Given the description of an element on the screen output the (x, y) to click on. 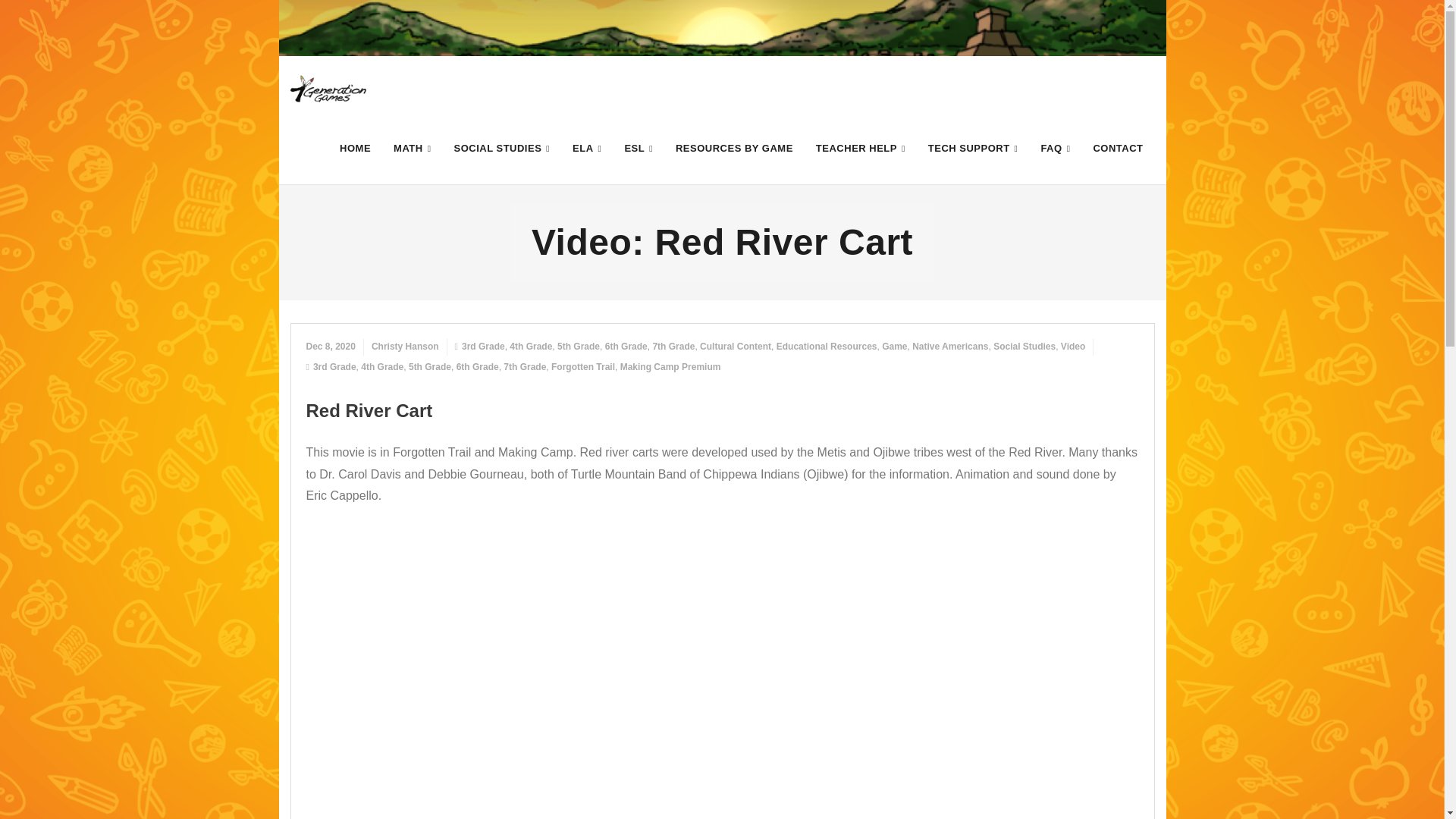
TEACHER HELP (861, 148)
View all posts by Christy Hanson (405, 346)
SOCIAL STUDIES (501, 148)
Video: Red River Cart (330, 346)
RESOURCES BY GAME (734, 148)
TECH SUPPORT (973, 148)
CONTACT (1117, 148)
